Given the description of an element on the screen output the (x, y) to click on. 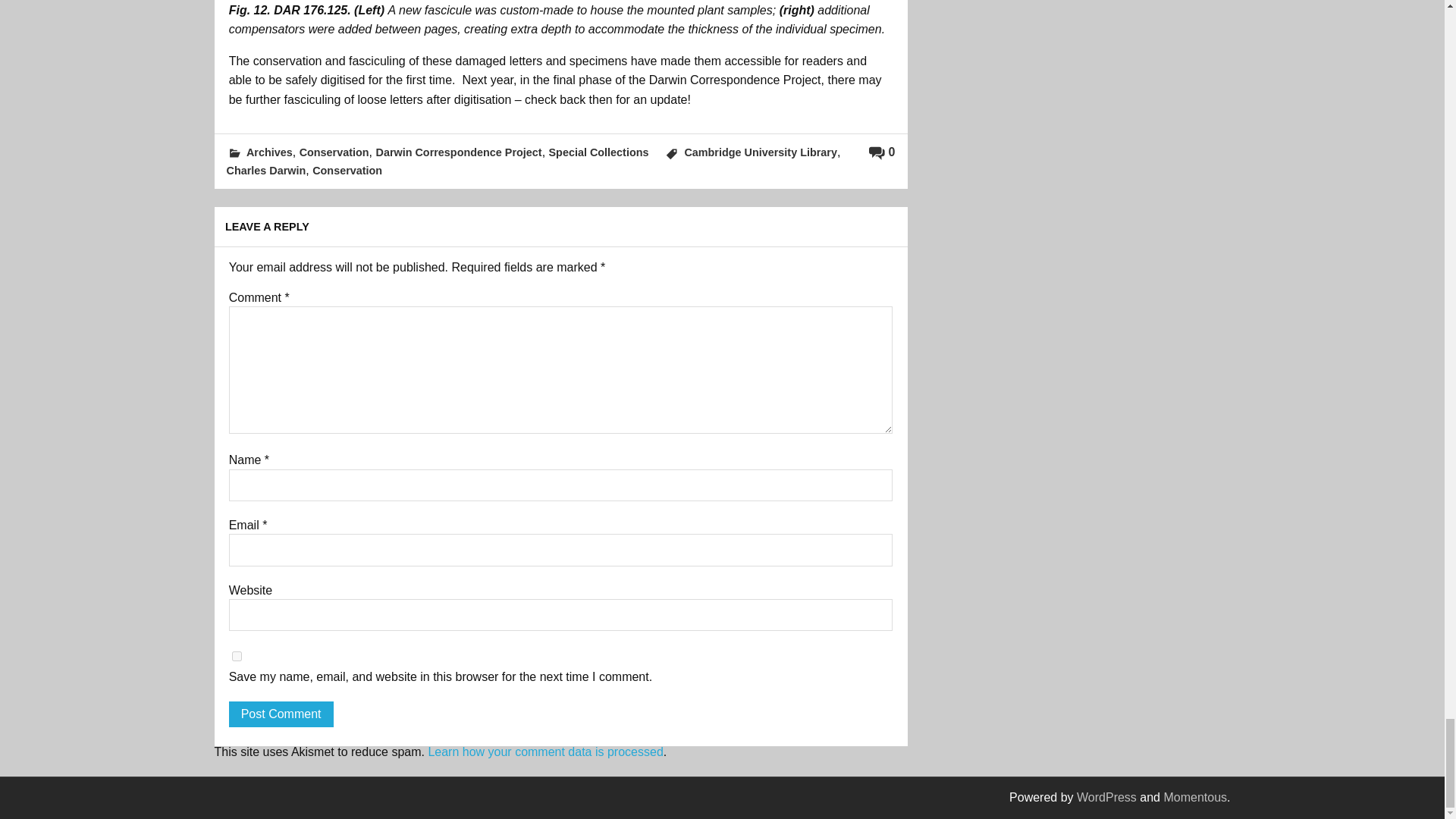
yes (236, 655)
Charles Darwin (265, 170)
Special Collections (598, 152)
Cambridge University Library (760, 152)
Post Comment (280, 714)
Post Comment (280, 714)
Conservation (334, 152)
Momentous WordPress Theme (1195, 797)
Learn how your comment data is processed (545, 751)
0 (882, 151)
Darwin Correspondence Project (458, 152)
Conservation (347, 170)
Archives (269, 152)
WordPress (1107, 797)
